Given the description of an element on the screen output the (x, y) to click on. 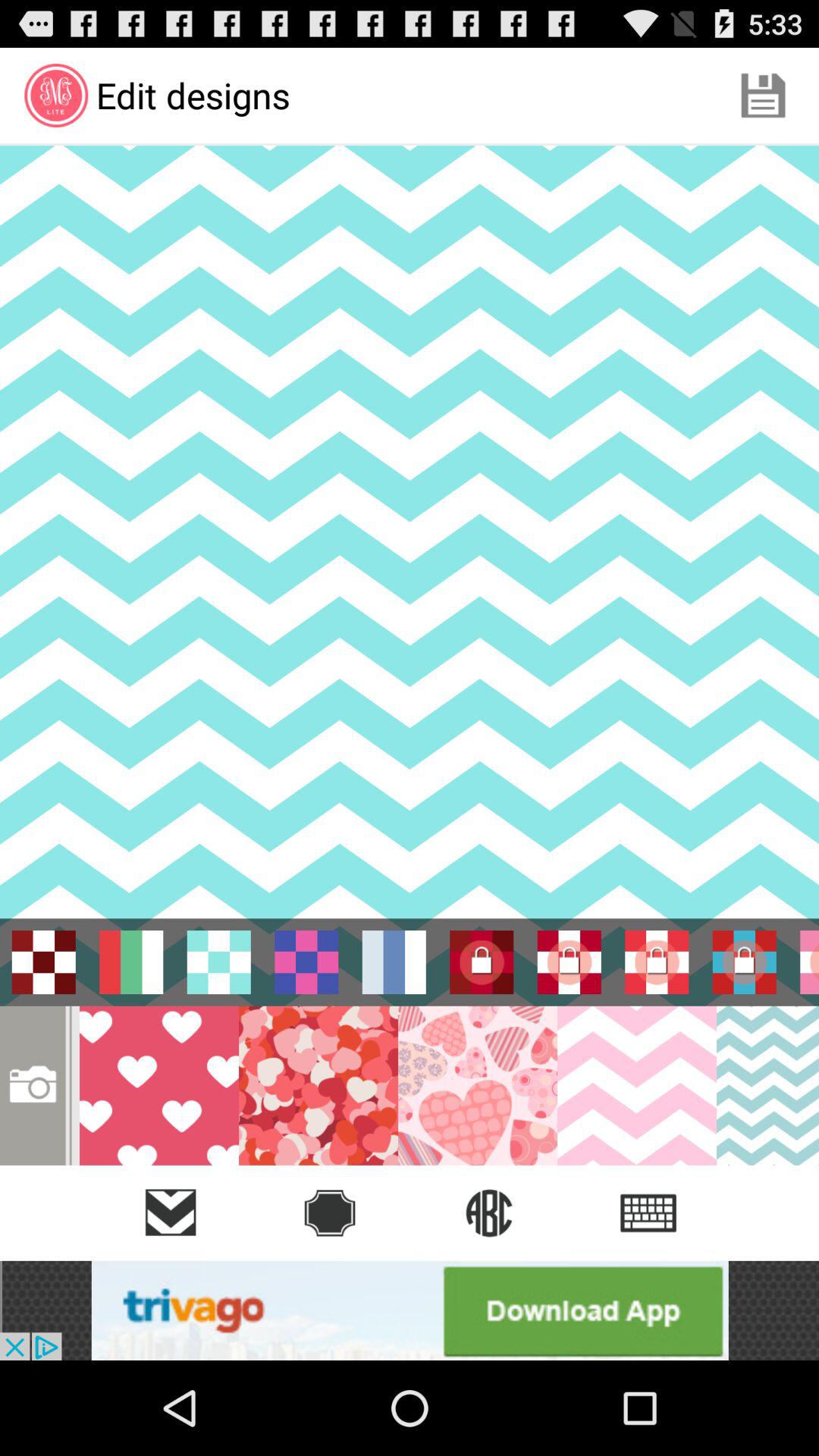
view add (409, 1310)
